Given the description of an element on the screen output the (x, y) to click on. 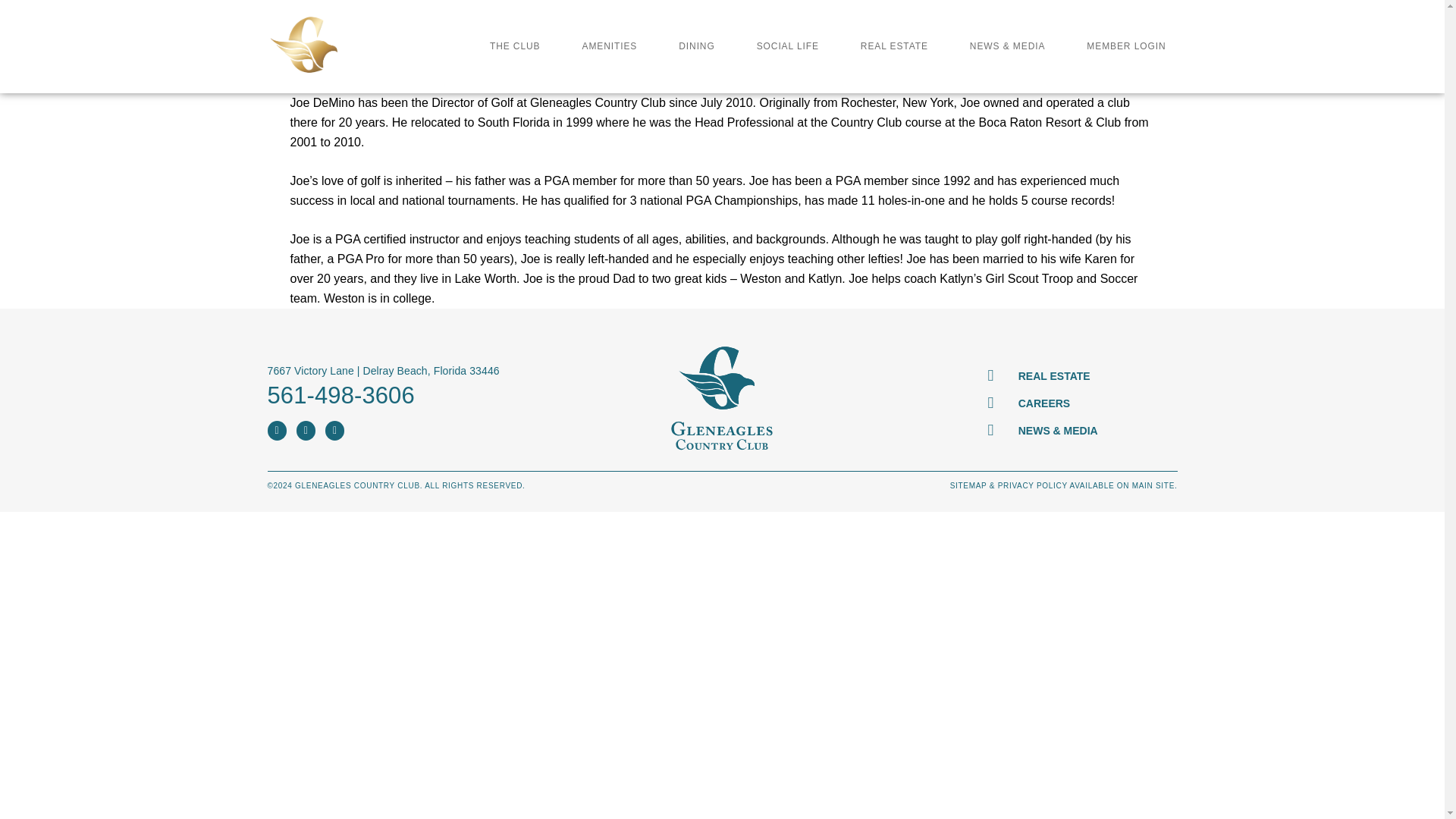
REAL ESTATE (893, 46)
REAL ESTATE (1081, 374)
DINING (695, 46)
SOCIAL LIFE (787, 46)
CAREERS (1081, 402)
AMENITIES (608, 46)
MEMBER LOGIN (1125, 46)
THE CLUB (515, 46)
561-498-3606 (339, 395)
